Given the description of an element on the screen output the (x, y) to click on. 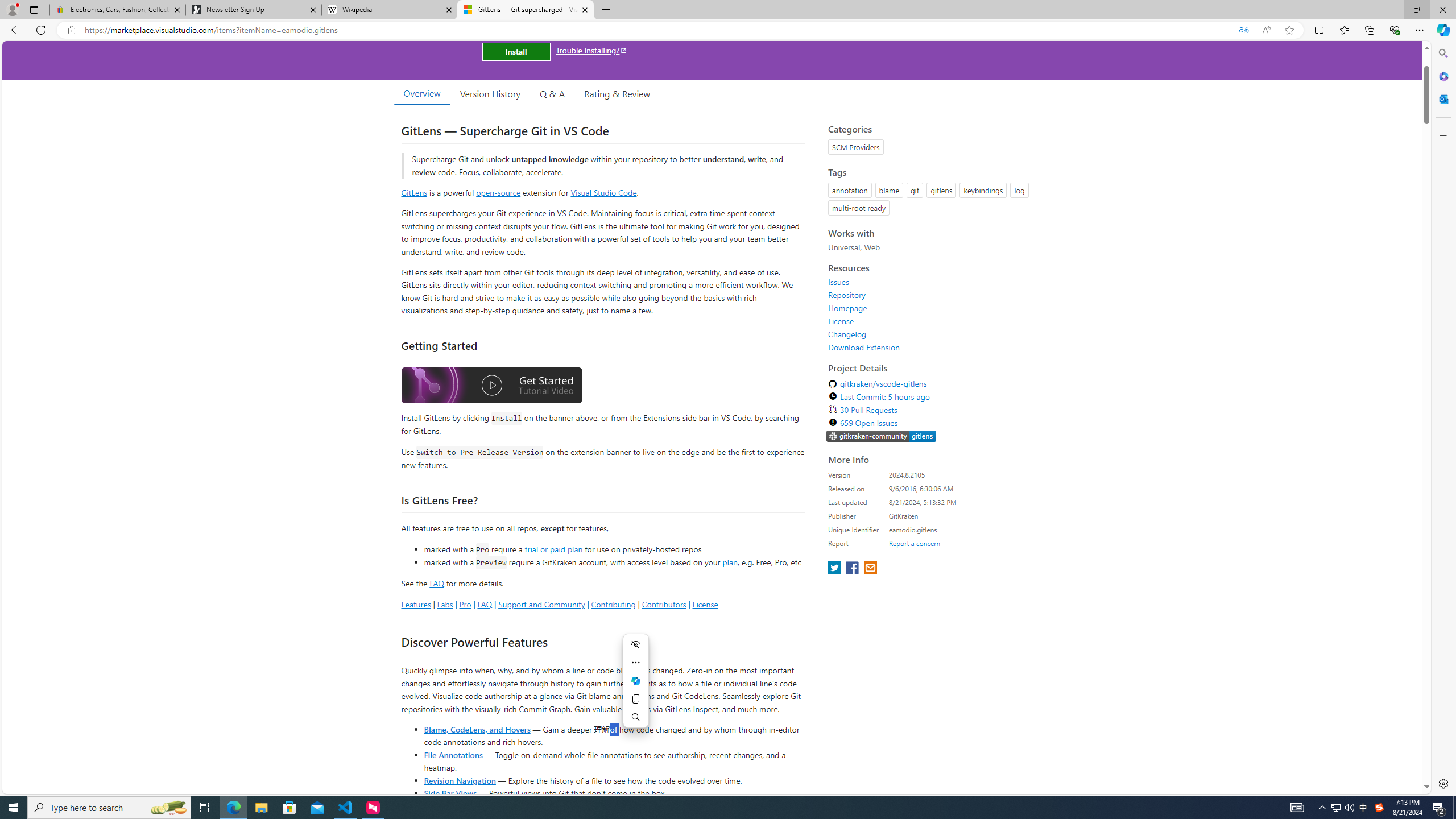
Repository (847, 294)
GitLens (414, 192)
Newsletter Sign Up (253, 9)
share extension on email (869, 568)
Translated (1243, 29)
